Given the description of an element on the screen output the (x, y) to click on. 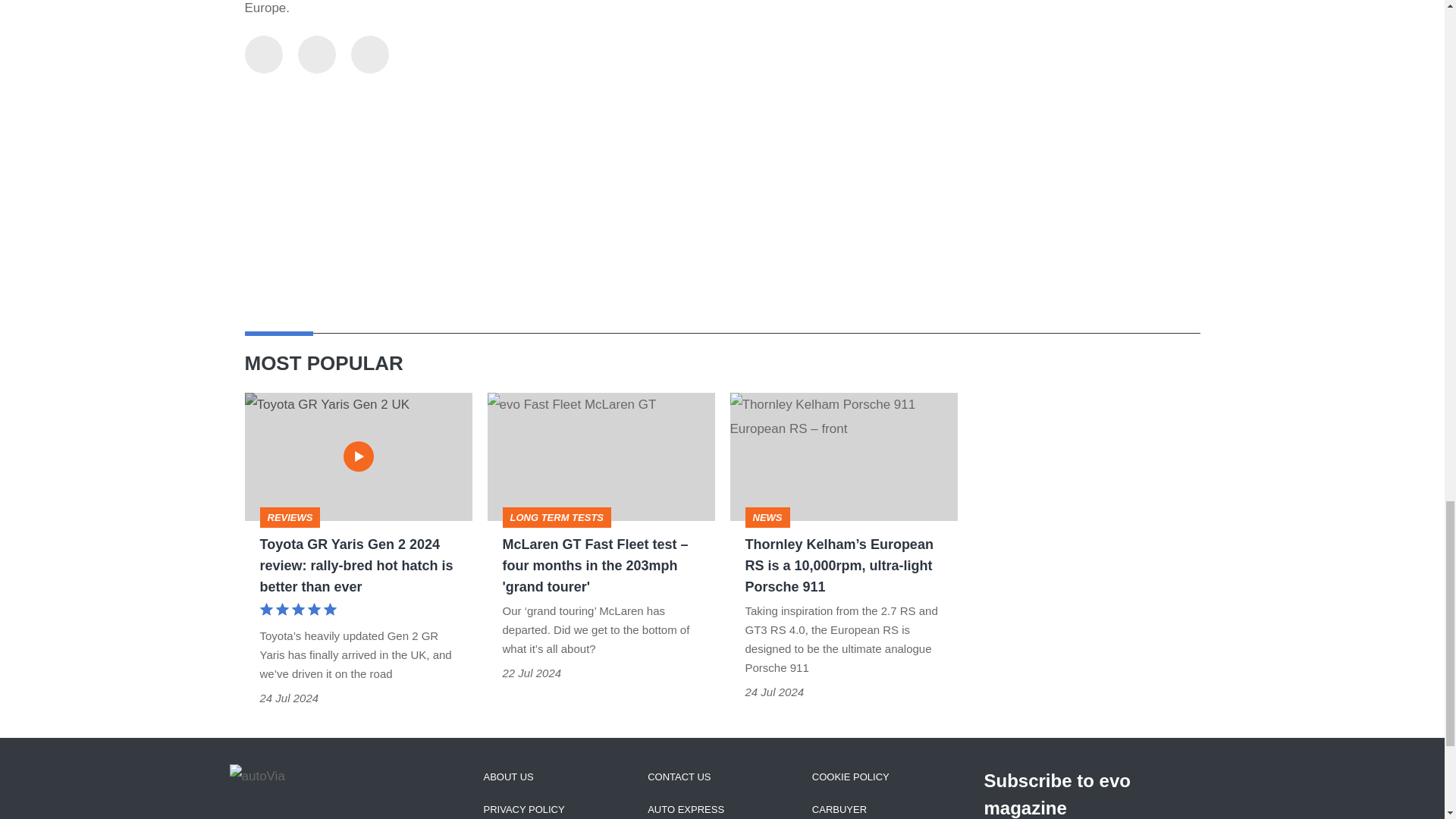
5 Stars (297, 611)
